Given the description of an element on the screen output the (x, y) to click on. 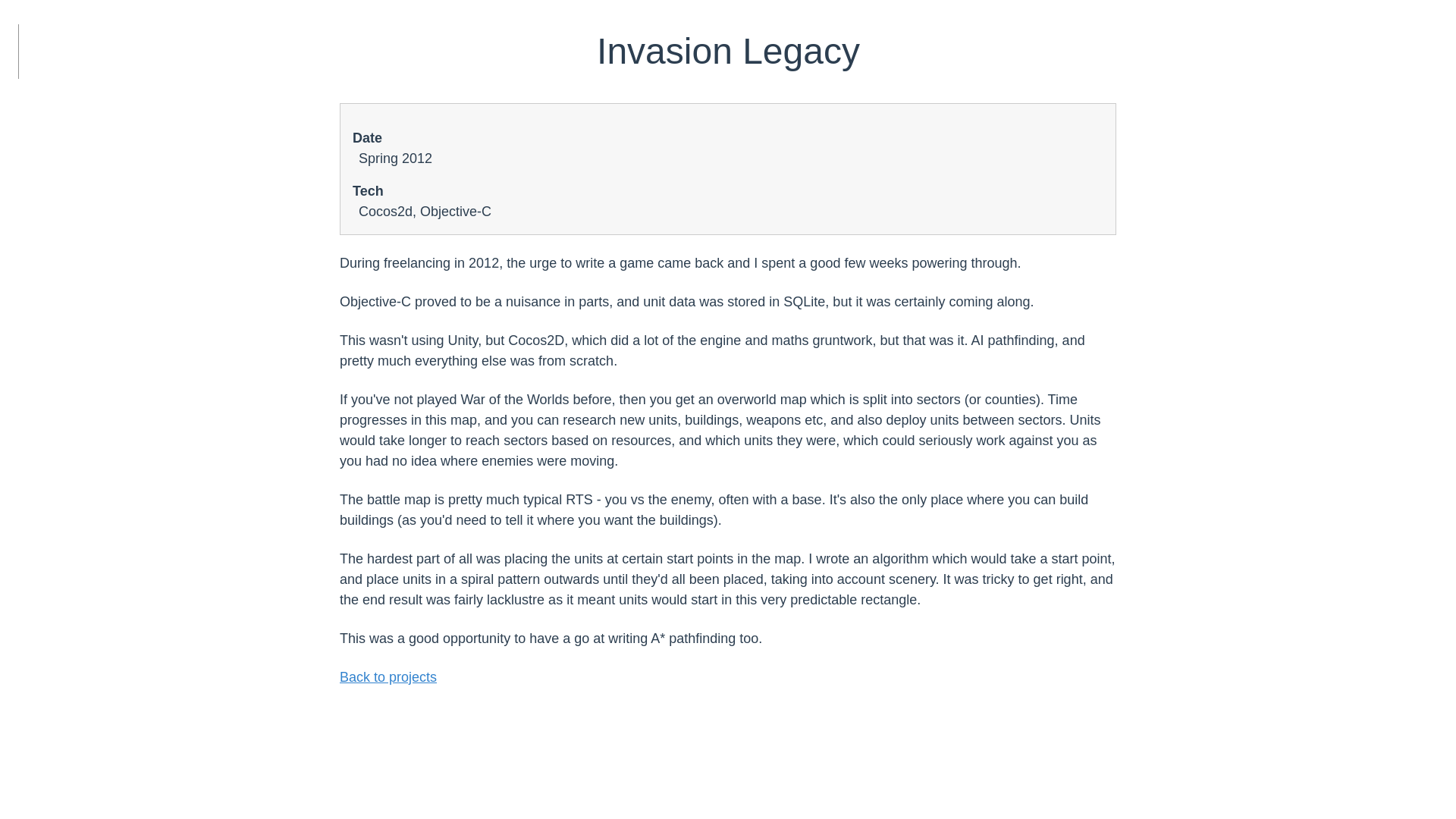
Back to projects (387, 676)
